Given the description of an element on the screen output the (x, y) to click on. 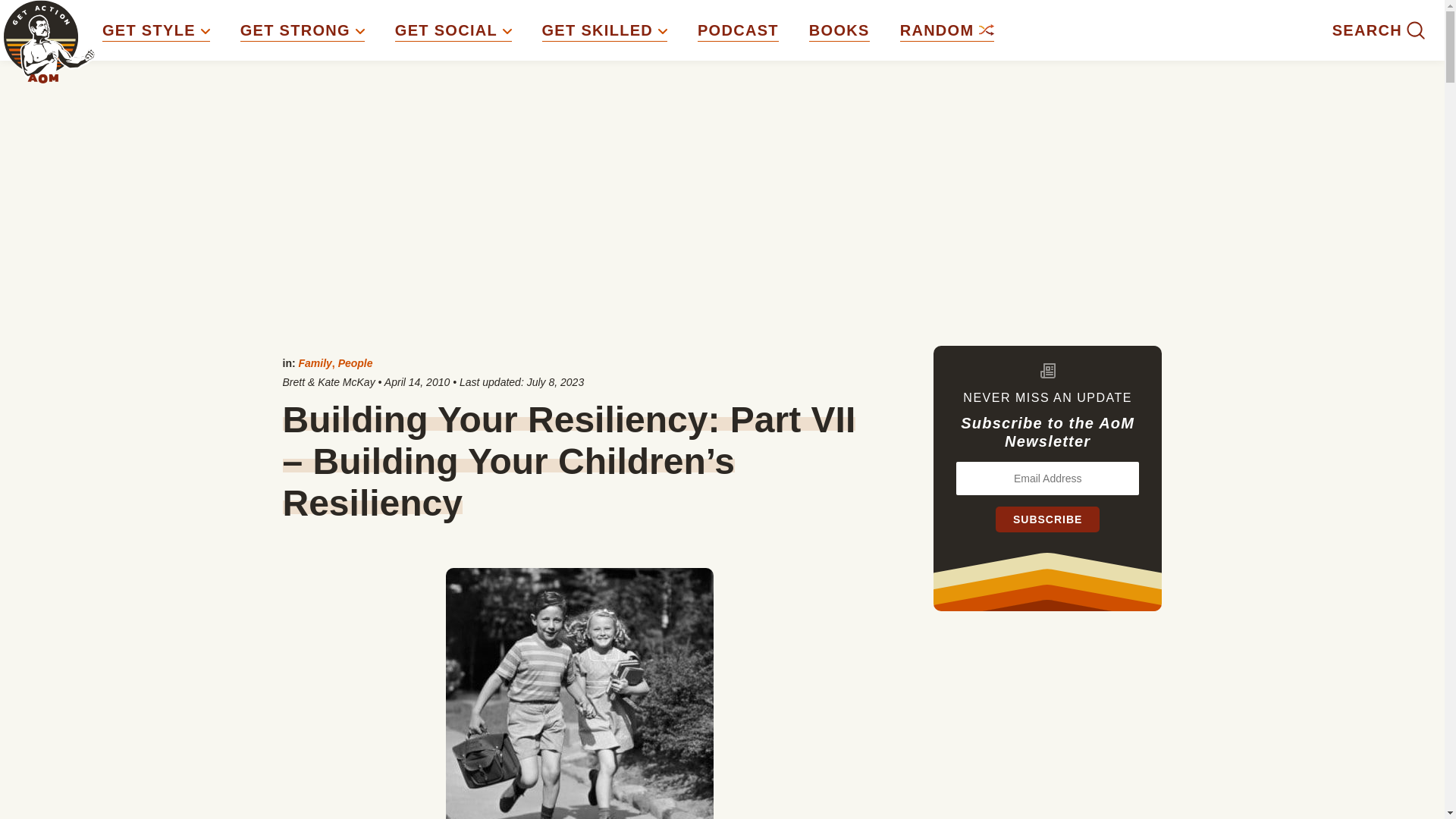
1950s children (579, 693)
GET SKILLED (603, 30)
BOOKS (839, 30)
PODCAST (737, 30)
GET SOCIAL (453, 30)
Subscribe (1047, 519)
RANDOM (946, 30)
GET STYLE (155, 30)
GET STRONG (302, 30)
